Given the description of an element on the screen output the (x, y) to click on. 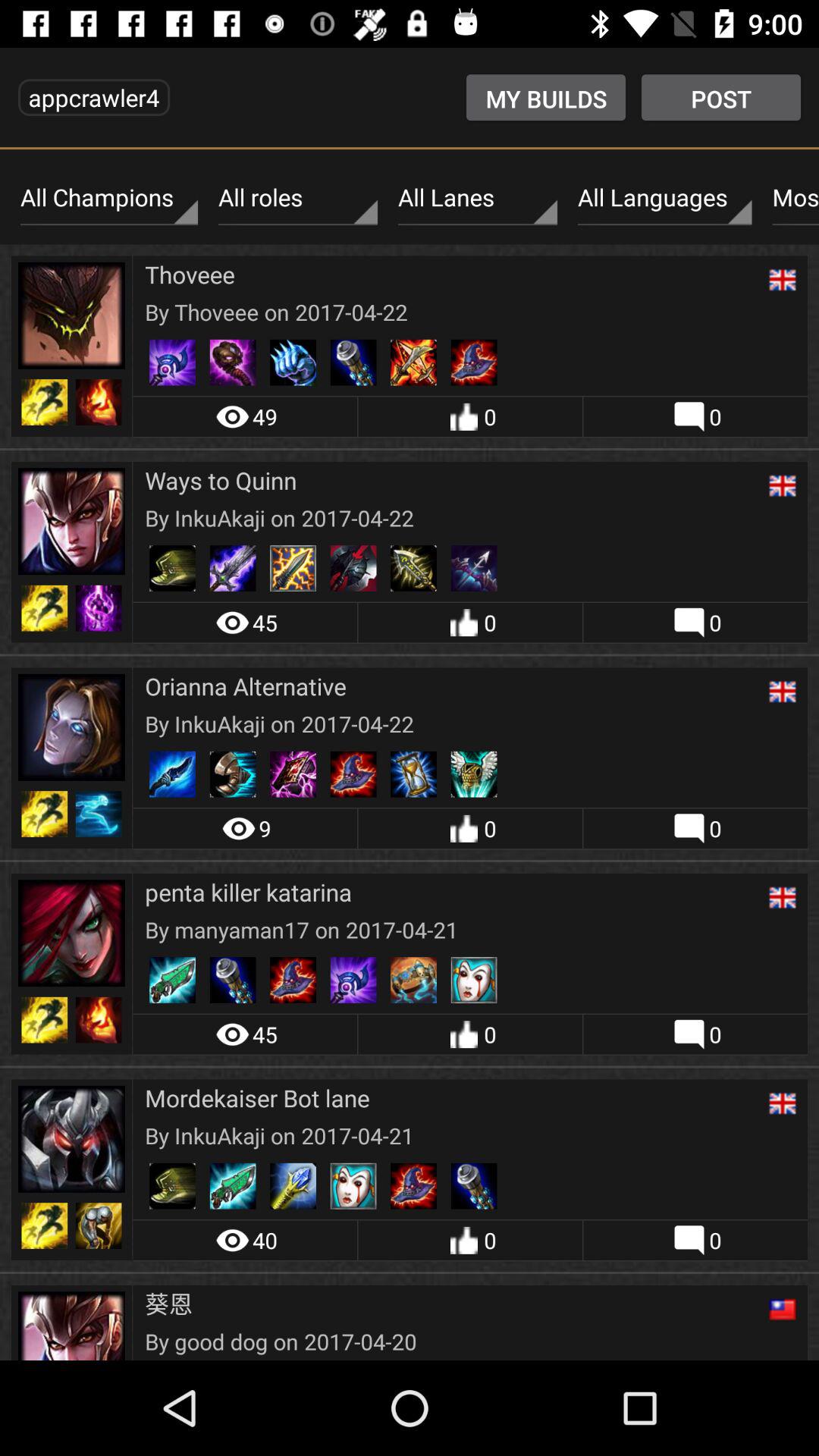
turn off item next to appcrawler4 item (545, 97)
